Given the description of an element on the screen output the (x, y) to click on. 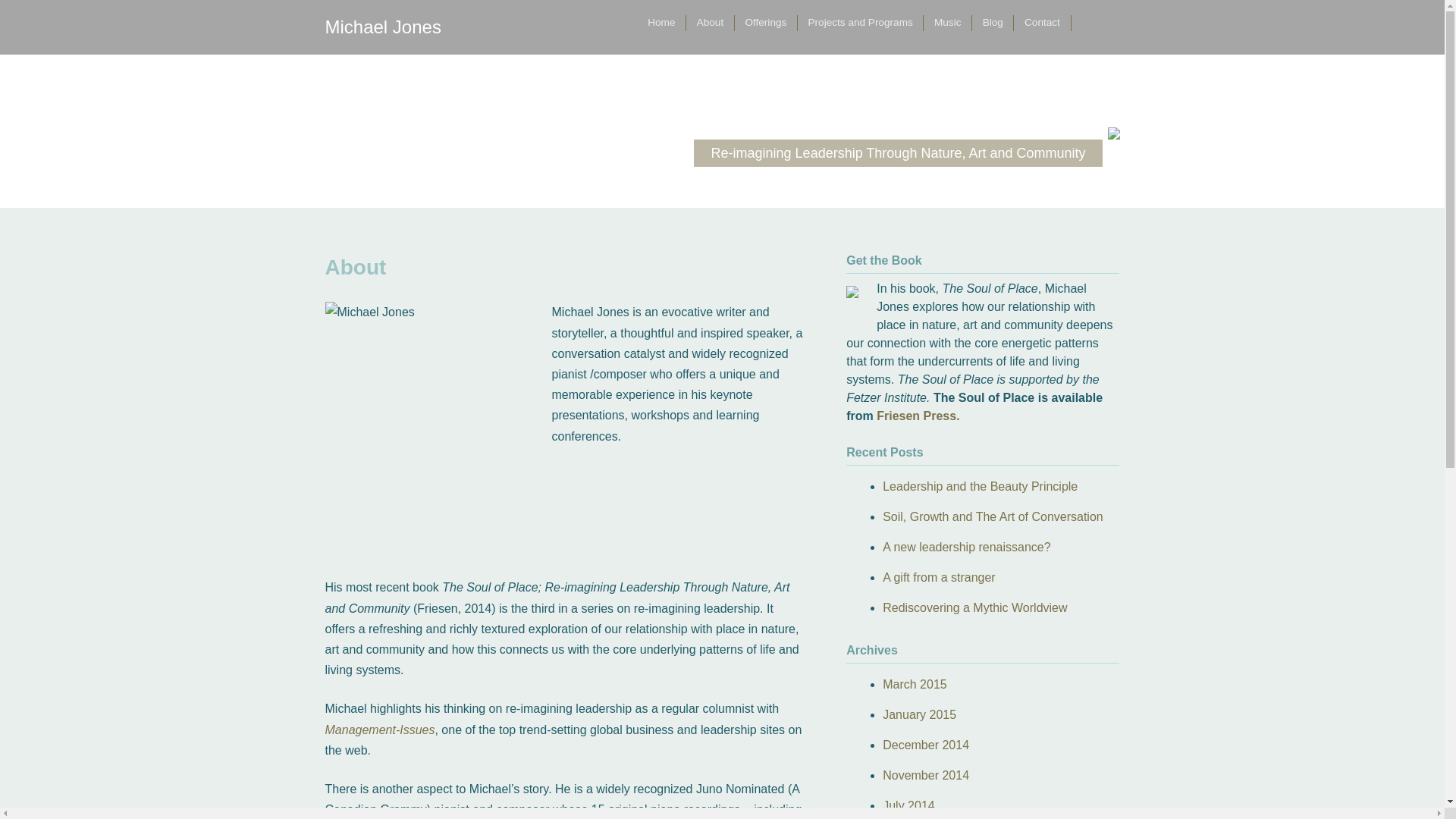
Blog (992, 22)
Friesen Press. (917, 415)
Projects and Programs (860, 22)
Rediscovering a Mythic Worldview (974, 607)
Music (947, 22)
About (710, 22)
January 2015 (919, 714)
Soil, Growth and The Art of Conversation (992, 516)
A new leadership renaissance? (965, 546)
Leadership and the Beauty Principle (979, 486)
